Given the description of an element on the screen output the (x, y) to click on. 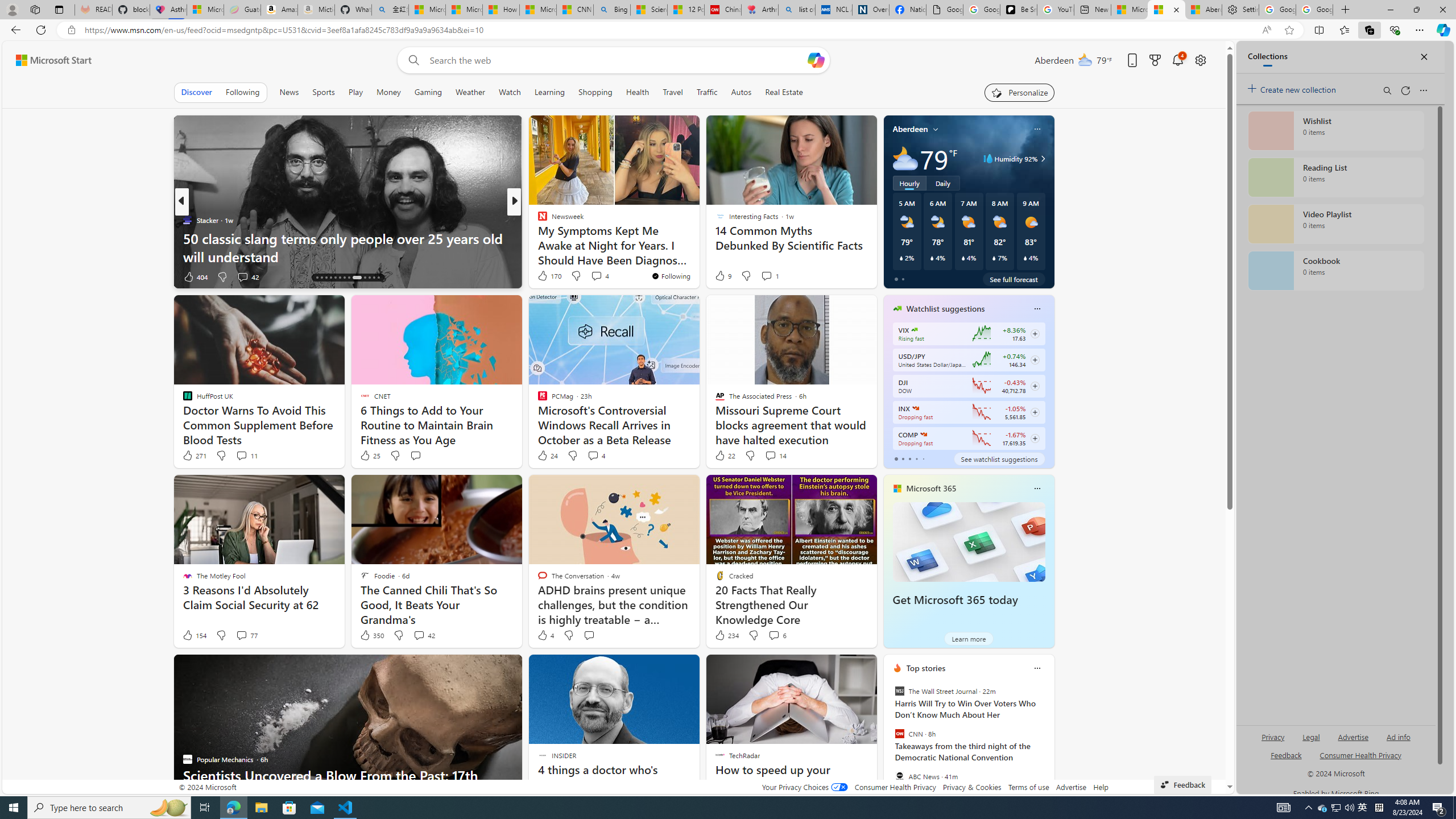
AutomationID: tab-26 (378, 277)
Mostly cloudy (904, 158)
Popular Mechanics (537, 219)
3k Like (543, 276)
